Given the description of an element on the screen output the (x, y) to click on. 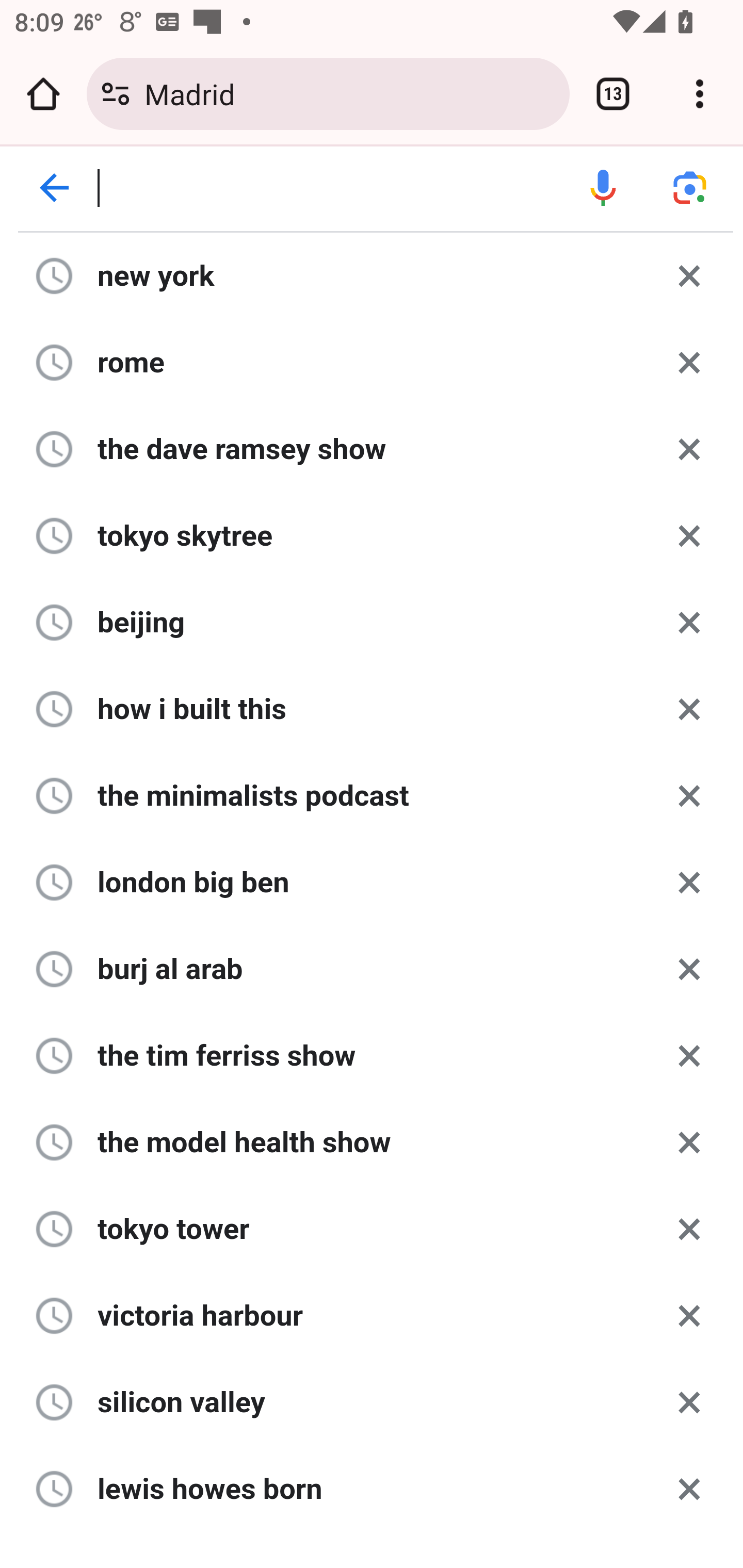
Open the home page (43, 93)
Connection is secure (115, 93)
Switch or close tabs (612, 93)
Customize and control Google Chrome (699, 93)
Madrid (349, 92)
